Given the description of an element on the screen output the (x, y) to click on. 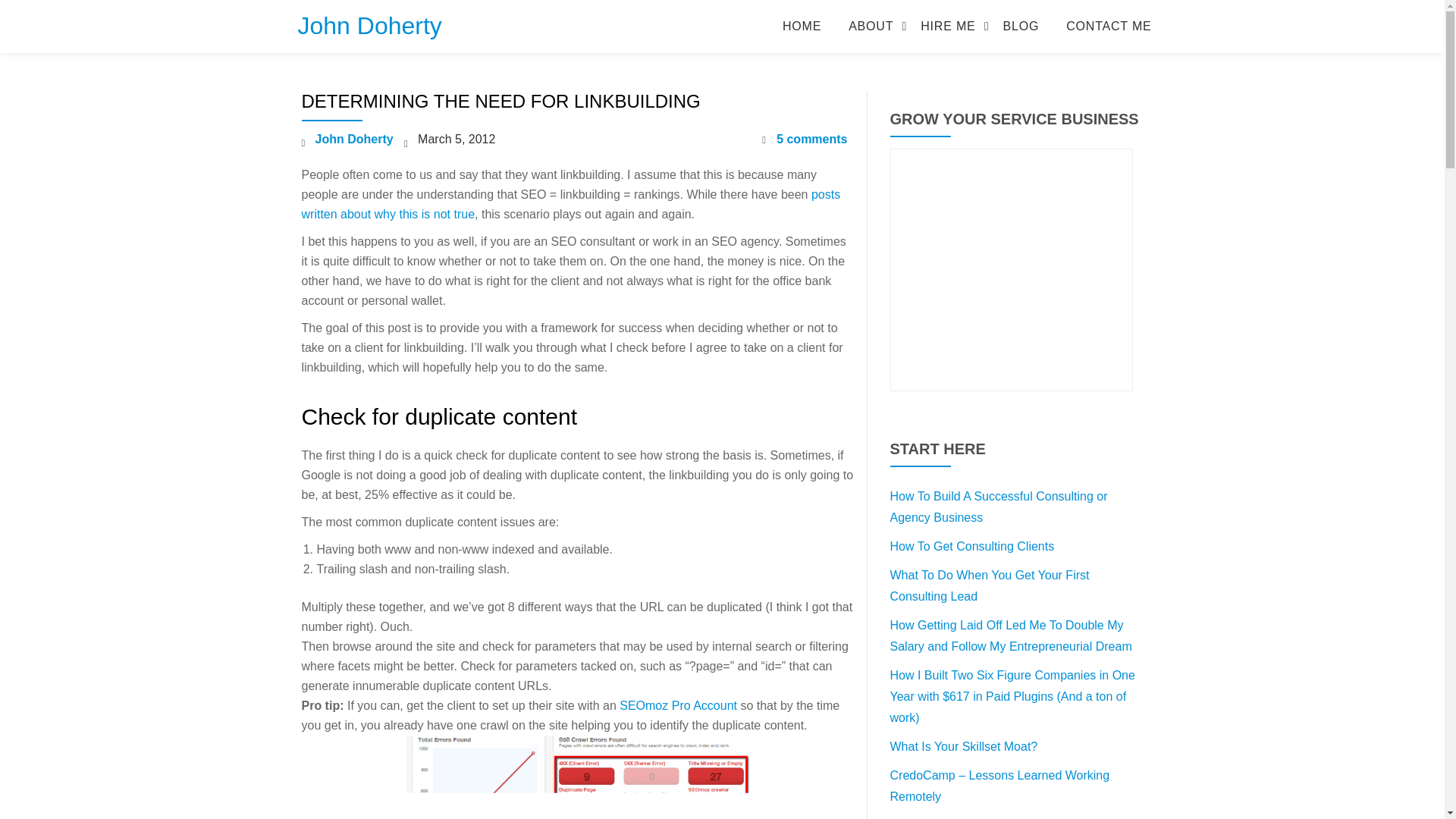
How To Build A Successful Consulting or Agency Business (998, 506)
John Doherty (354, 138)
seomoz-issues (578, 777)
About John (870, 26)
SEOmoz Pro Account (678, 705)
John Doherty (369, 25)
Home (802, 26)
HOME (802, 26)
posts written about why this is not true (571, 204)
